Given the description of an element on the screen output the (x, y) to click on. 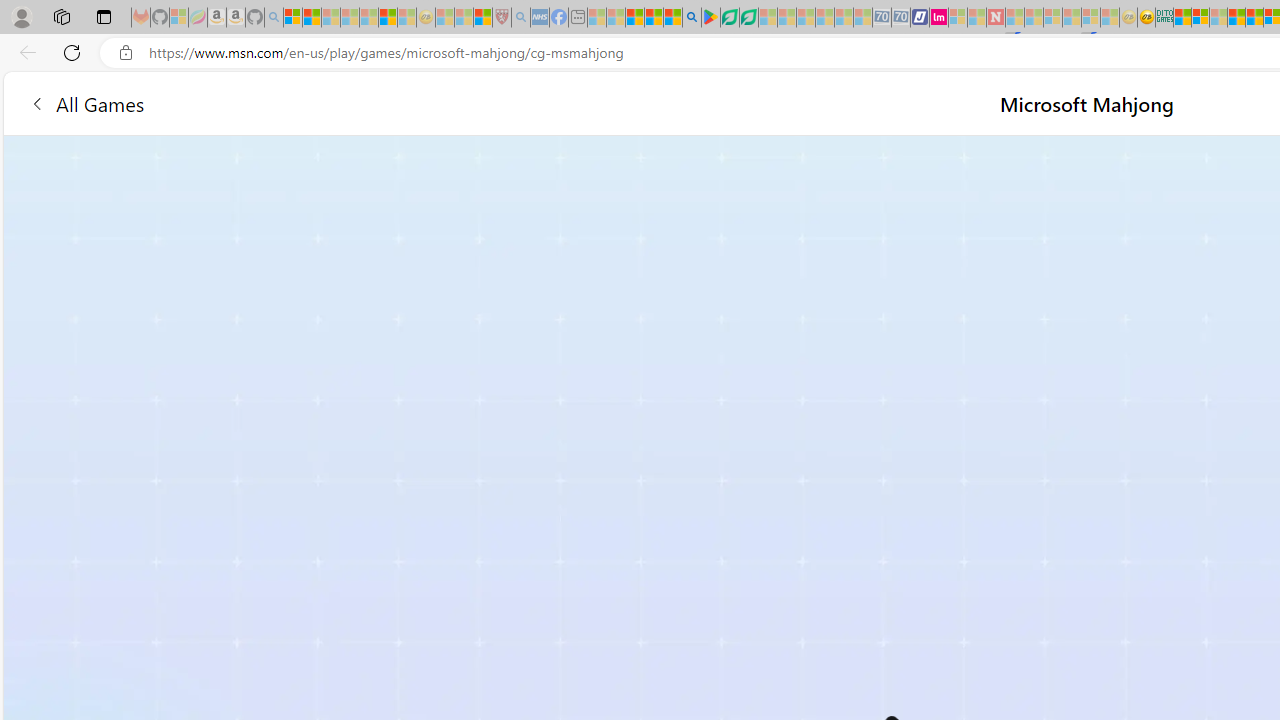
All Games (86, 102)
Terms of Use Agreement (729, 17)
